Given the description of an element on the screen output the (x, y) to click on. 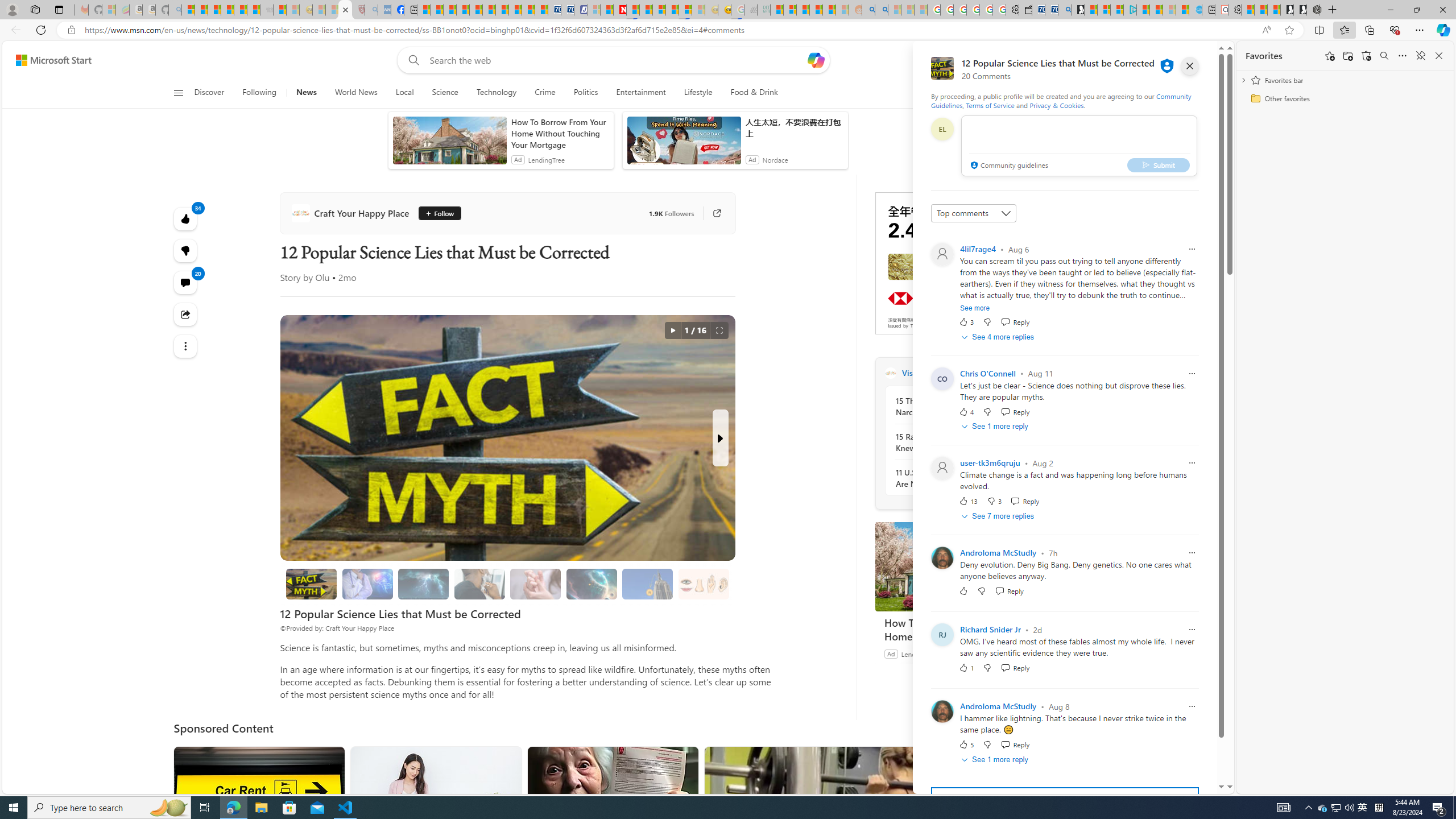
Class: at-item (184, 345)
Space Myths (591, 583)
15 Rare Dog Breeds You Never Knew Existed (957, 441)
Brain Myths (367, 583)
See 7 more replies (998, 516)
Lightning Myths (423, 583)
Utah sues federal government - Search (881, 9)
Report comment (1191, 706)
